Given the description of an element on the screen output the (x, y) to click on. 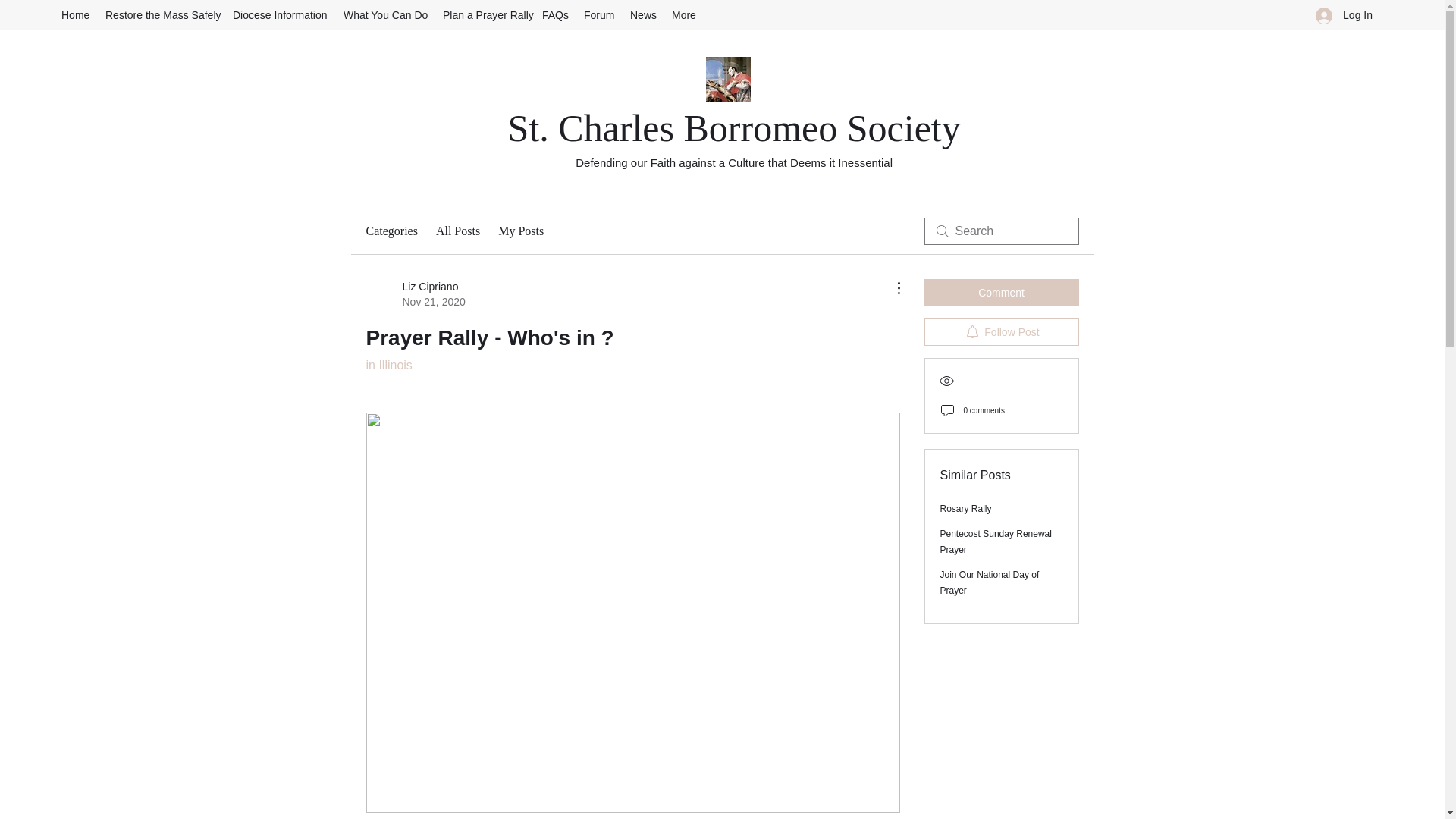
Categories (390, 230)
Diocese Information (280, 15)
What You Can Do (385, 15)
St. Charles Borromeo Society (734, 128)
Forum (599, 15)
Home (75, 15)
Follow Post (1000, 331)
Rosary Rally (965, 508)
My Posts (520, 230)
in Illinois (388, 364)
Log In (1343, 15)
Comment (414, 294)
Restore the Mass Safely (1000, 292)
All Posts (161, 15)
